Given the description of an element on the screen output the (x, y) to click on. 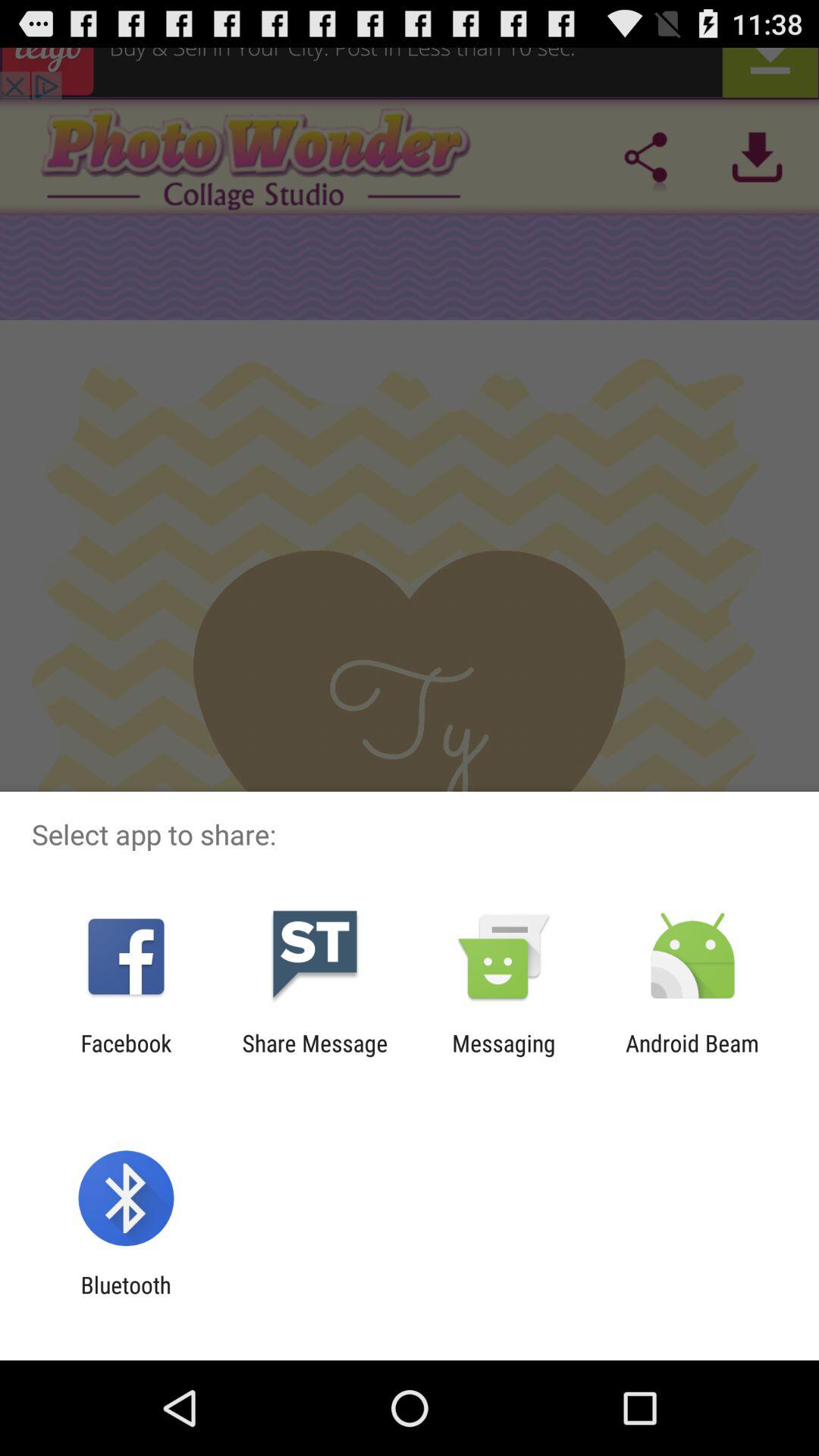
turn on app next to the share message app (503, 1056)
